Given the description of an element on the screen output the (x, y) to click on. 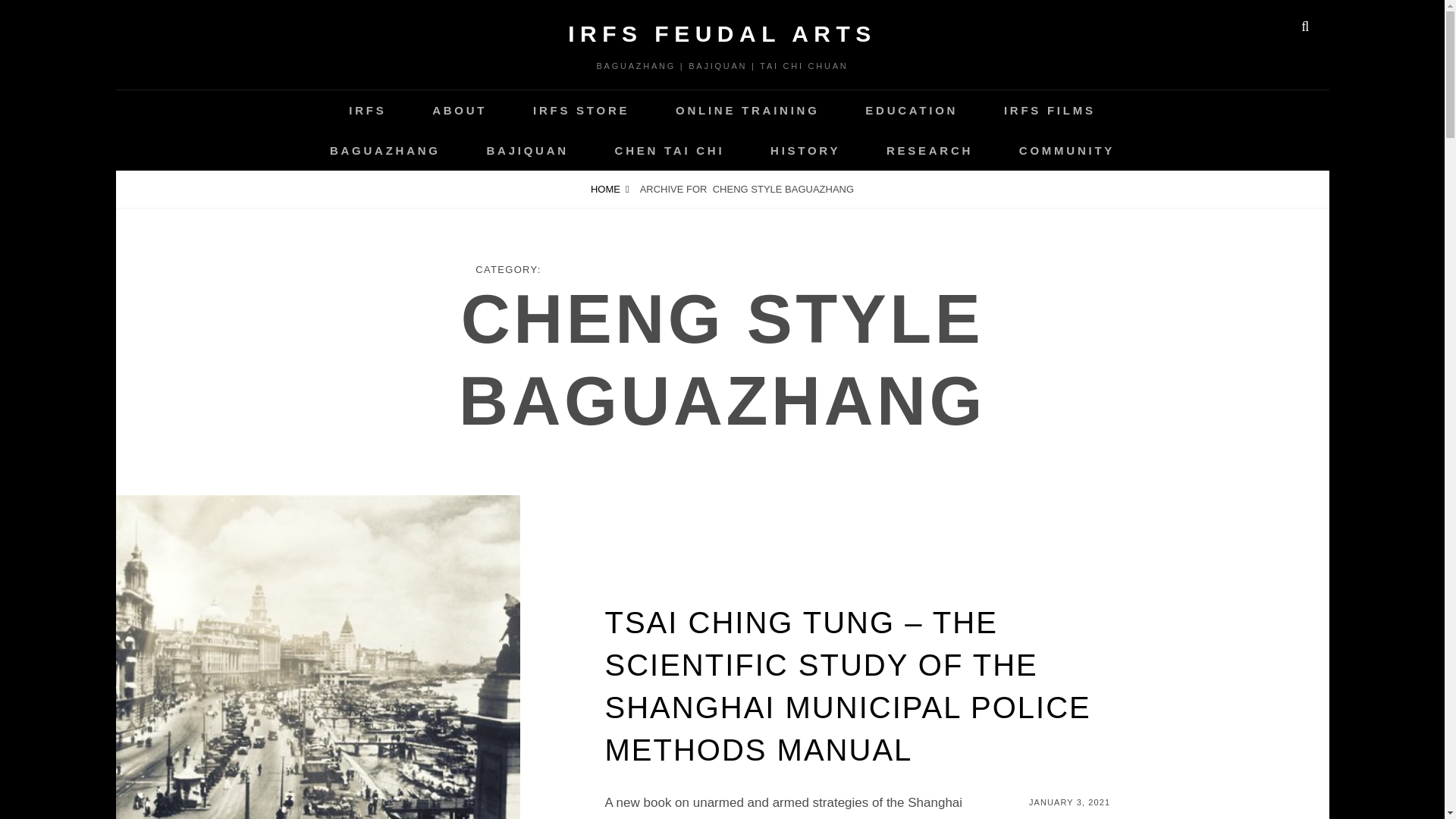
IRFS (367, 110)
IRFS STORE (581, 110)
EDUCATION (911, 110)
CHEN TAI CHI (669, 150)
HOME (609, 189)
RESEARCH (929, 150)
IRFS FEUDAL ARTS (721, 33)
ONLINE TRAINING (747, 110)
BAGUAZHANG (384, 150)
IRFS FILMS (1049, 110)
HISTORY (805, 150)
COMMUNITY (1066, 150)
ABOUT (459, 110)
BAJIQUAN (527, 150)
